Given the description of an element on the screen output the (x, y) to click on. 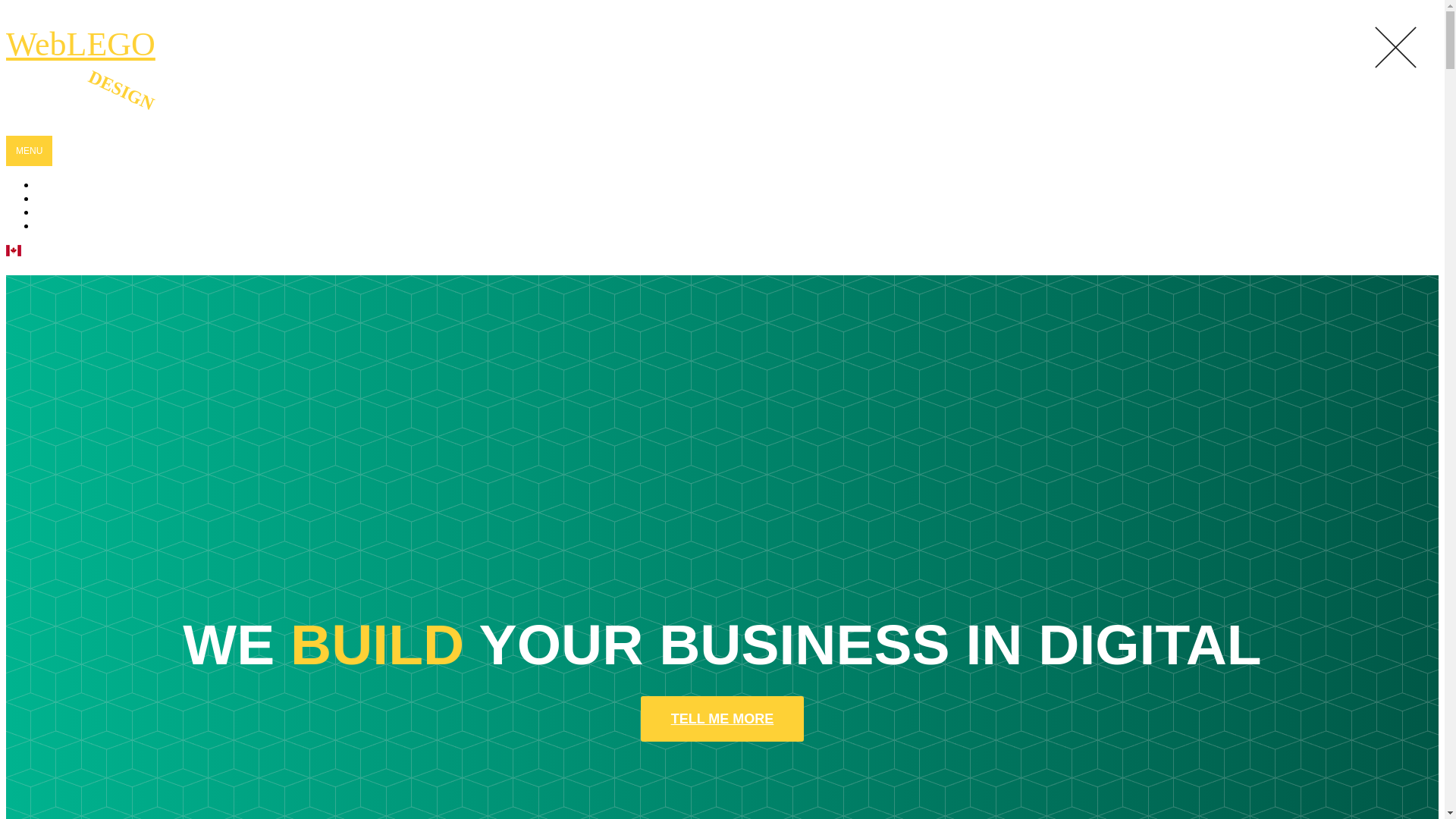
WebLEGO (80, 44)
MENU (28, 150)
ABOUT (67, 212)
SERVICES (77, 185)
TELL ME MORE (722, 719)
SERVICES (77, 185)
PORTFOLIO (82, 198)
TELL ME MORE (722, 719)
CONTACT (75, 226)
ABOUT (67, 212)
CONTACT (75, 226)
PORTFOLIO (82, 198)
WebLEGO (80, 44)
